Given the description of an element on the screen output the (x, y) to click on. 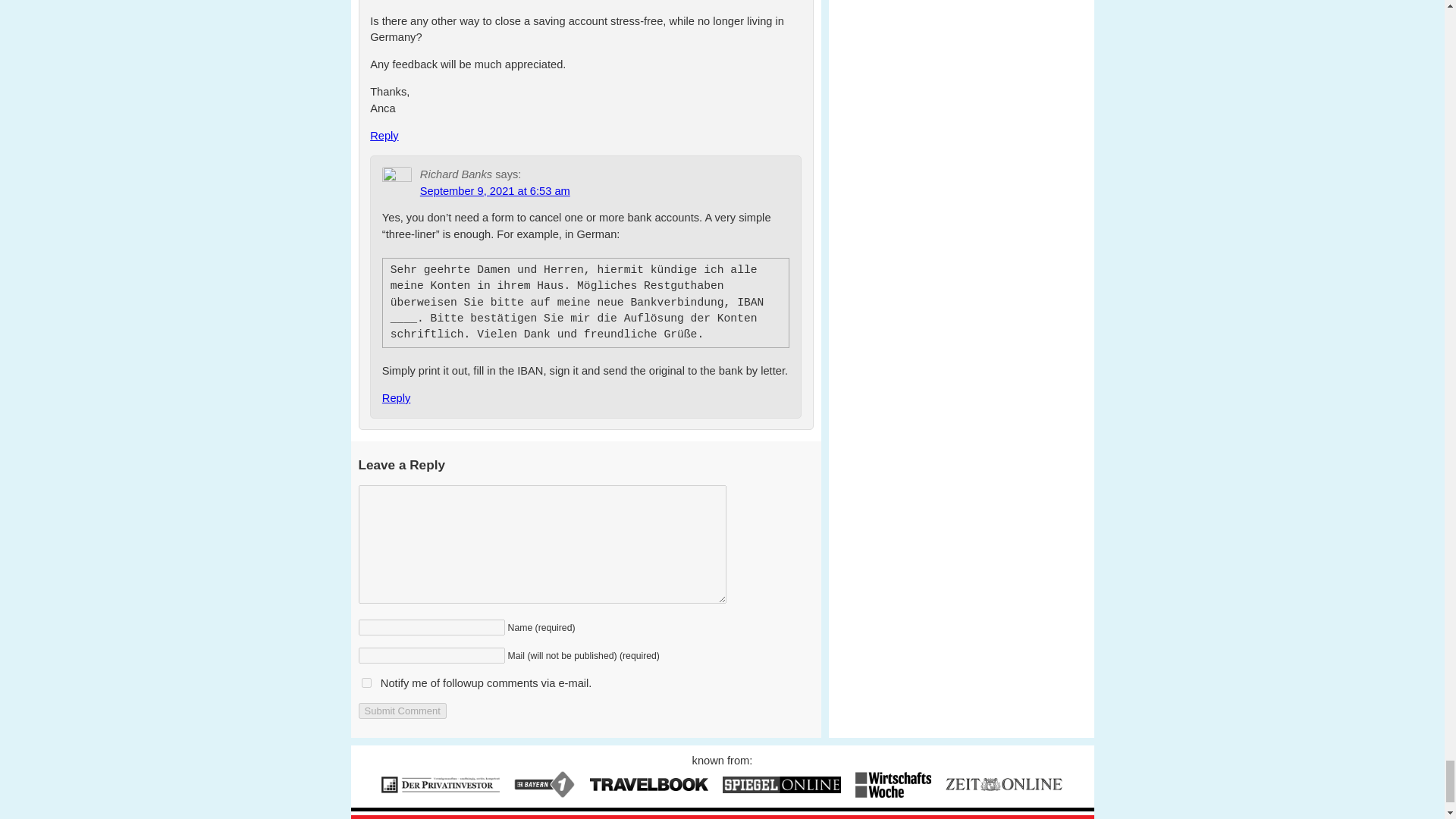
yes (366, 682)
Submit Comment (401, 710)
